Given the description of an element on the screen output the (x, y) to click on. 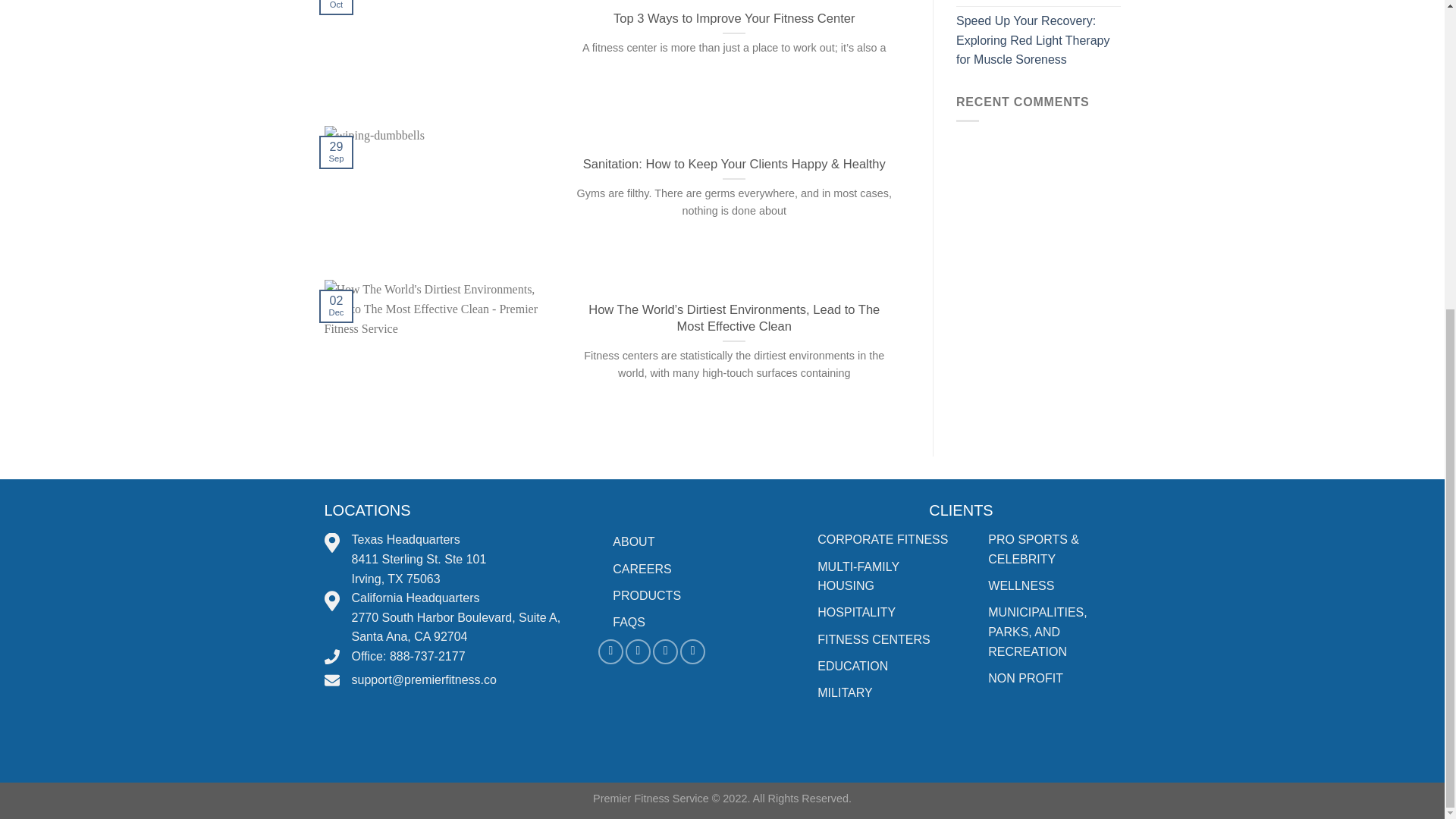
Follow on YouTube (691, 651)
Follow on Instagram (638, 651)
Follow on LinkedIn (665, 651)
Follow on Facebook (610, 651)
